Given the description of an element on the screen output the (x, y) to click on. 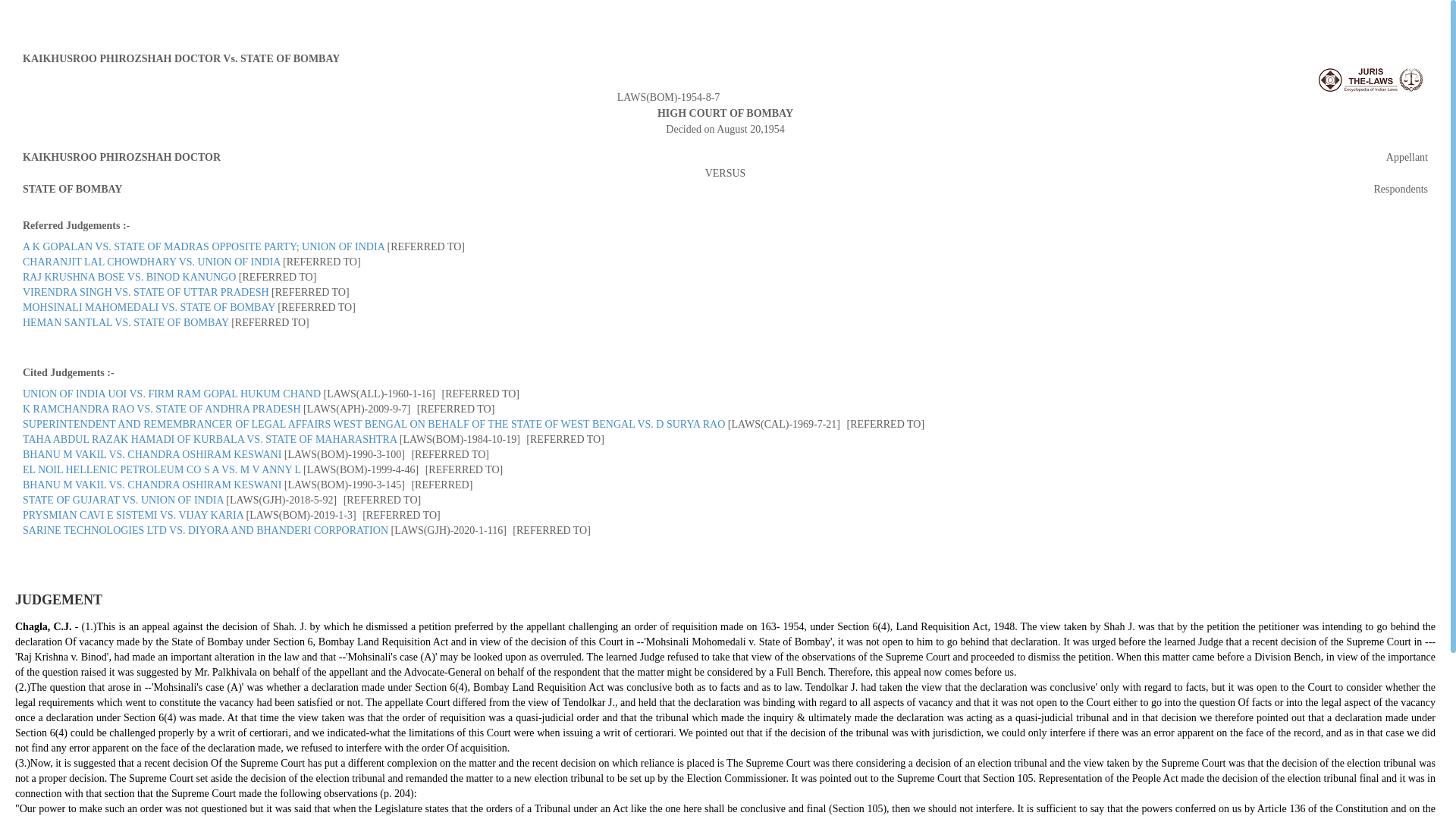
EL NOIL HELLENIC PETROLEUM CO S A VS. M V ANNY L (162, 469)
PRYSMIAN CAVI E SISTEMI VS. VIJAY KARIA (133, 514)
BHANU M VAKIL VS. CHANDRA OSHIRAM KESWANI (152, 454)
VIRENDRA SINGH VS. STATE OF UTTAR PRADESH (146, 292)
BHANU M VAKIL VS. CHANDRA OSHIRAM KESWANI (152, 484)
K RAMCHANDRA RAO VS. STATE OF ANDHRA PRADESH (162, 408)
STATE OF GUJARAT VS. UNION OF INDIA (123, 500)
UNION OF INDIA UOI VS. FIRM RAM GOPAL HUKUM CHAND (171, 393)
CHARANJIT LAL CHOWDHARY VS. UNION OF INDIA (152, 261)
